Given the description of an element on the screen output the (x, y) to click on. 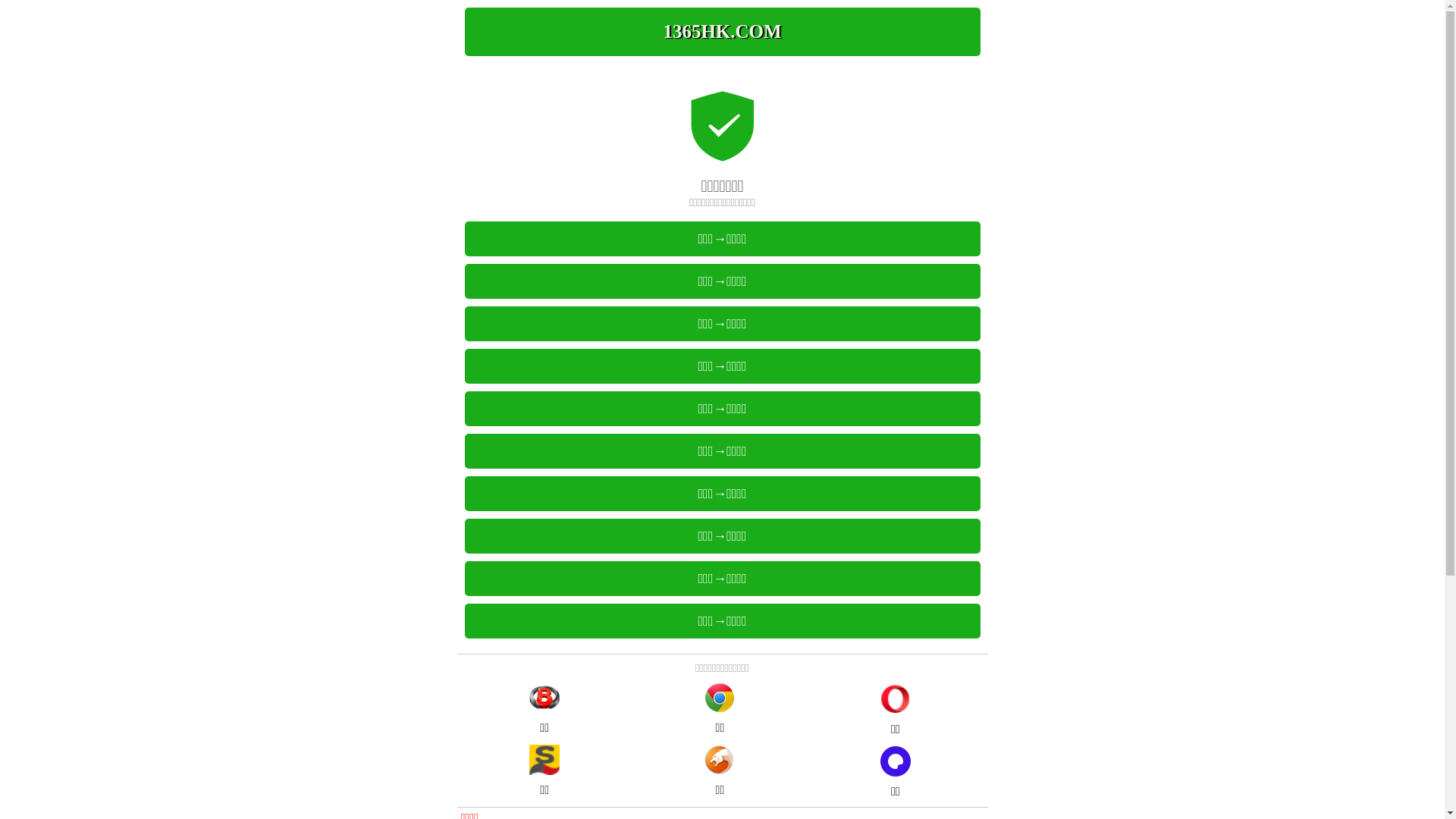
1364HK.COM Element type: text (721, 31)
